Given the description of an element on the screen output the (x, y) to click on. 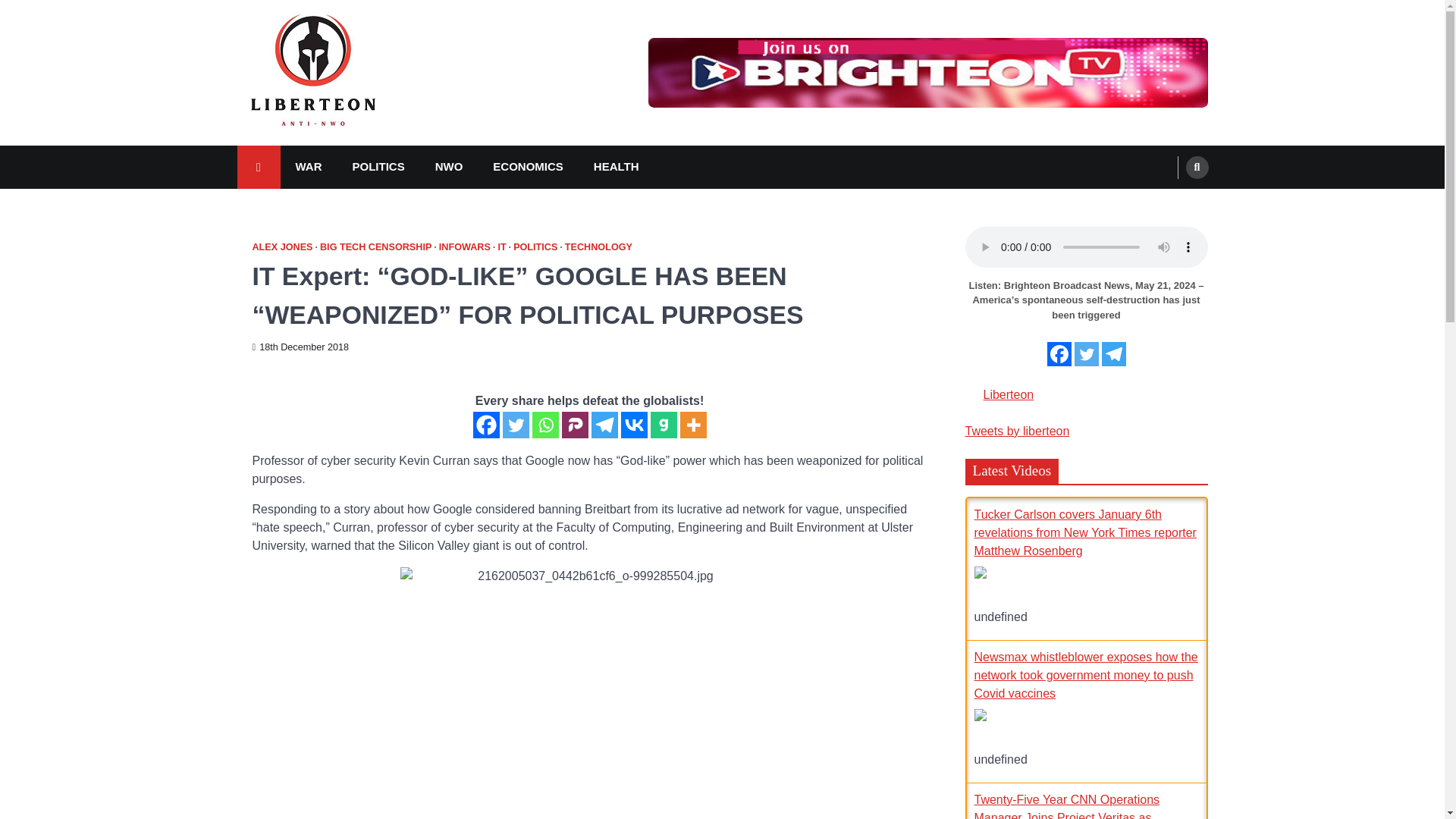
Telegram (604, 424)
Search (1197, 167)
TECHNOLOGY (597, 247)
POLITICS (377, 167)
BIG TECH CENSORSHIP (378, 247)
Search (1168, 203)
NWO (449, 167)
Gab (663, 424)
Vkontakte (633, 424)
WAR (309, 167)
Parler (574, 424)
Facebook (486, 424)
ALEX JONES (284, 247)
IT (504, 247)
LIBERTEON (311, 149)
